Given the description of an element on the screen output the (x, y) to click on. 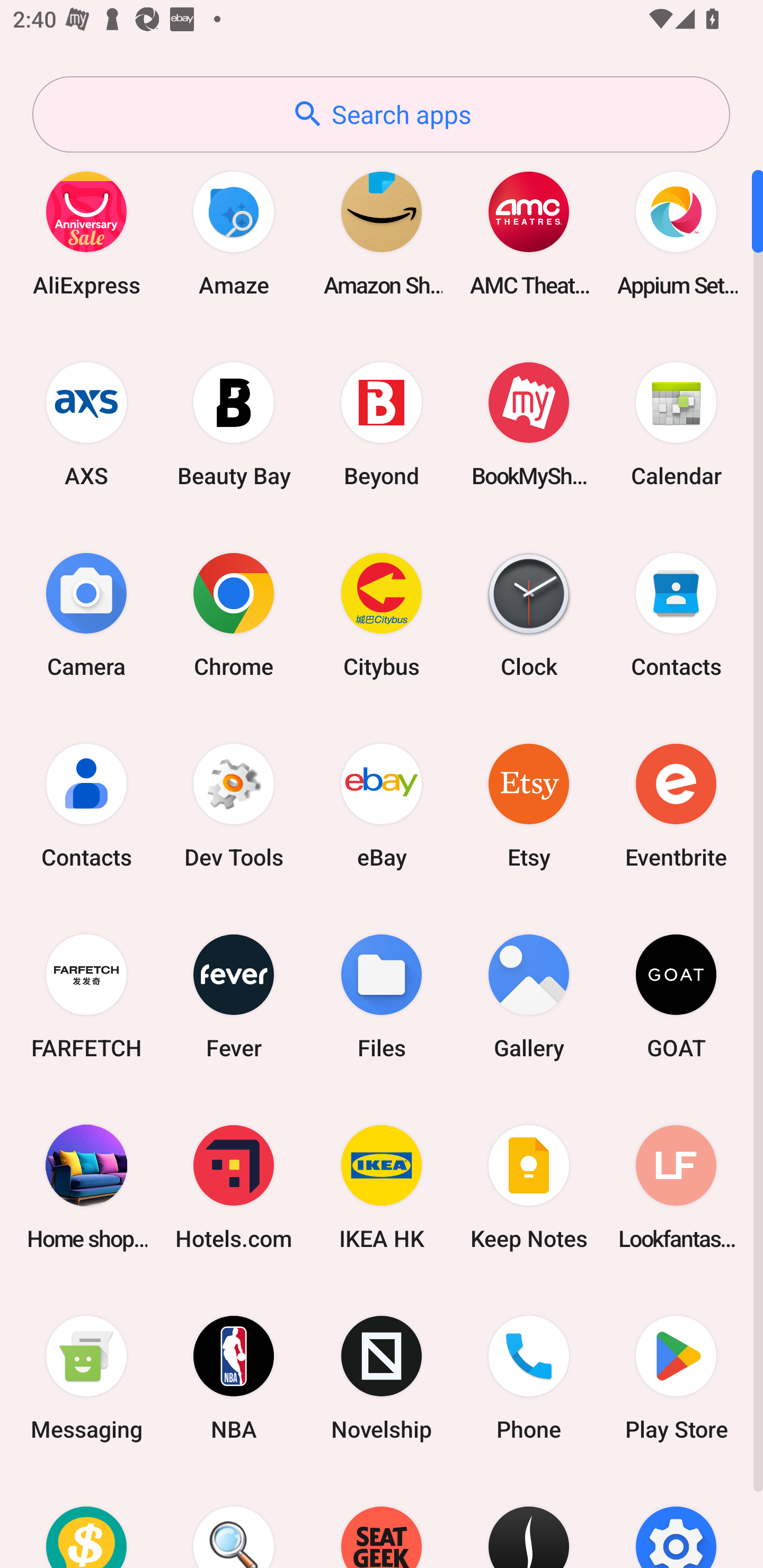
  Search apps (381, 114)
AliExpress (86, 233)
Amaze (233, 233)
Amazon Shopping (381, 233)
AMC Theatres (528, 233)
Appium Settings (676, 233)
AXS (86, 424)
Beauty Bay (233, 424)
Beyond (381, 424)
BookMyShow (528, 424)
Calendar (676, 424)
Camera (86, 614)
Chrome (233, 614)
Citybus (381, 614)
Clock (528, 614)
Contacts (676, 614)
Contacts (86, 805)
Dev Tools (233, 805)
eBay (381, 805)
Etsy (528, 805)
Eventbrite (676, 805)
FARFETCH (86, 996)
Fever (233, 996)
Files (381, 996)
Gallery (528, 996)
GOAT (676, 996)
Home shopping (86, 1186)
Hotels.com (233, 1186)
IKEA HK (381, 1186)
Keep Notes (528, 1186)
Lookfantastic (676, 1186)
Messaging (86, 1377)
NBA (233, 1377)
Novelship (381, 1377)
Phone (528, 1377)
Play Store (676, 1377)
